Given the description of an element on the screen output the (x, y) to click on. 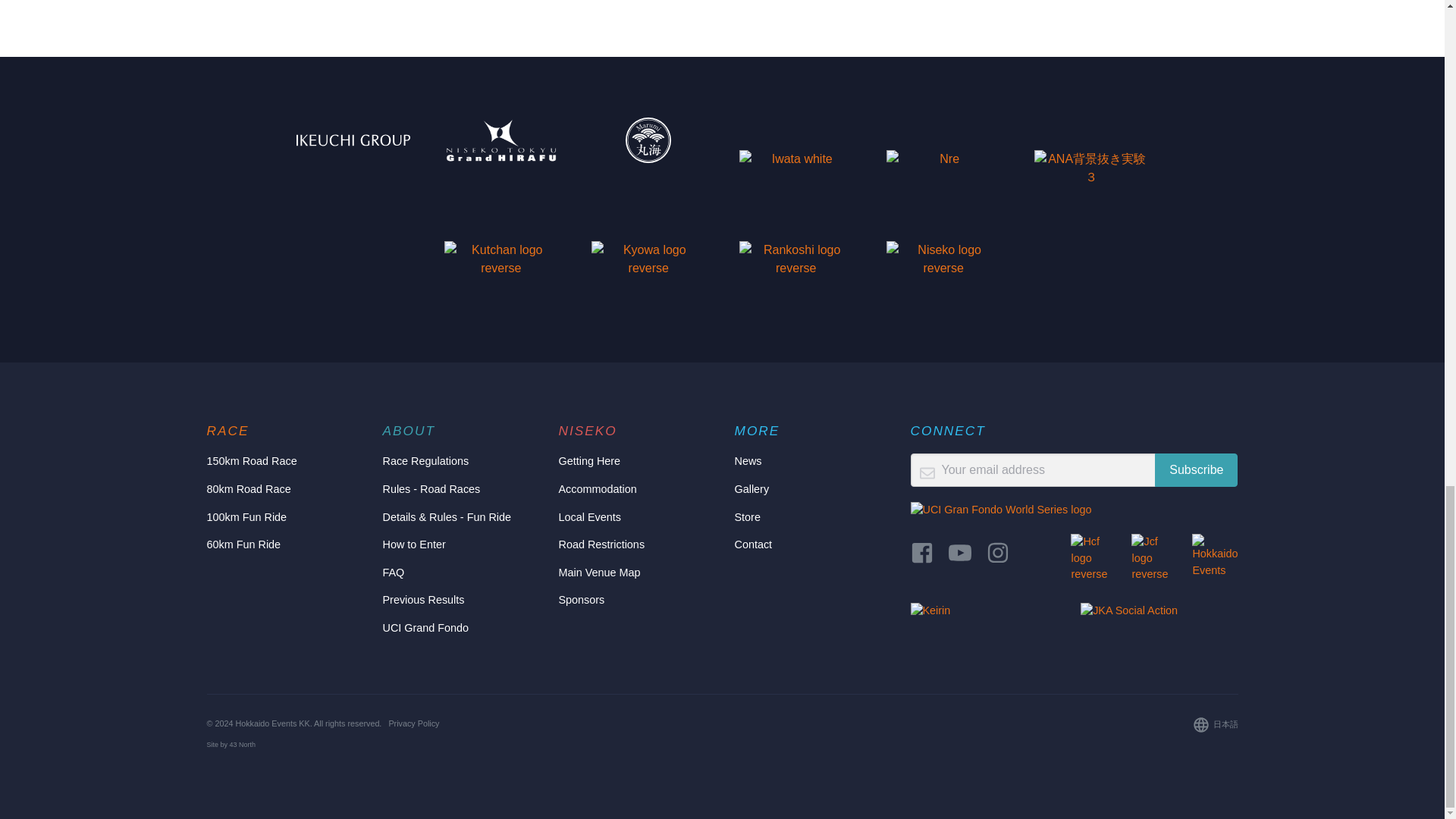
ANA (1090, 172)
Marumi (647, 139)
Rankoshi (796, 263)
Kyowa (647, 263)
Niseko Grand Hirafu Resort (500, 139)
Subscribe (1195, 469)
Niseko Real Estate (943, 172)
Ikeuchi Group (353, 139)
Niseko (943, 263)
Kutchan (500, 263)
